Given the description of an element on the screen output the (x, y) to click on. 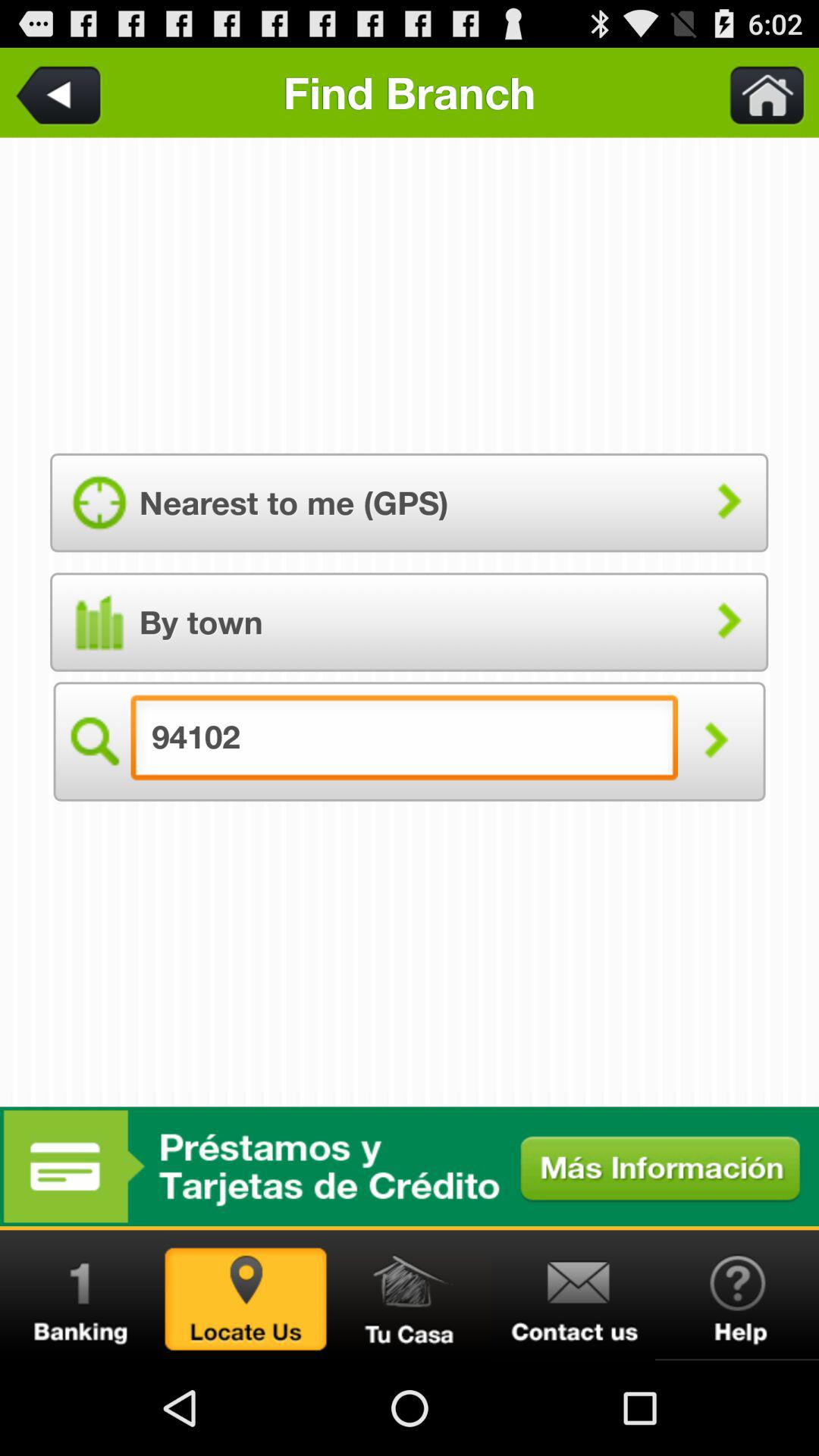
click more information (409, 1166)
